Given the description of an element on the screen output the (x, y) to click on. 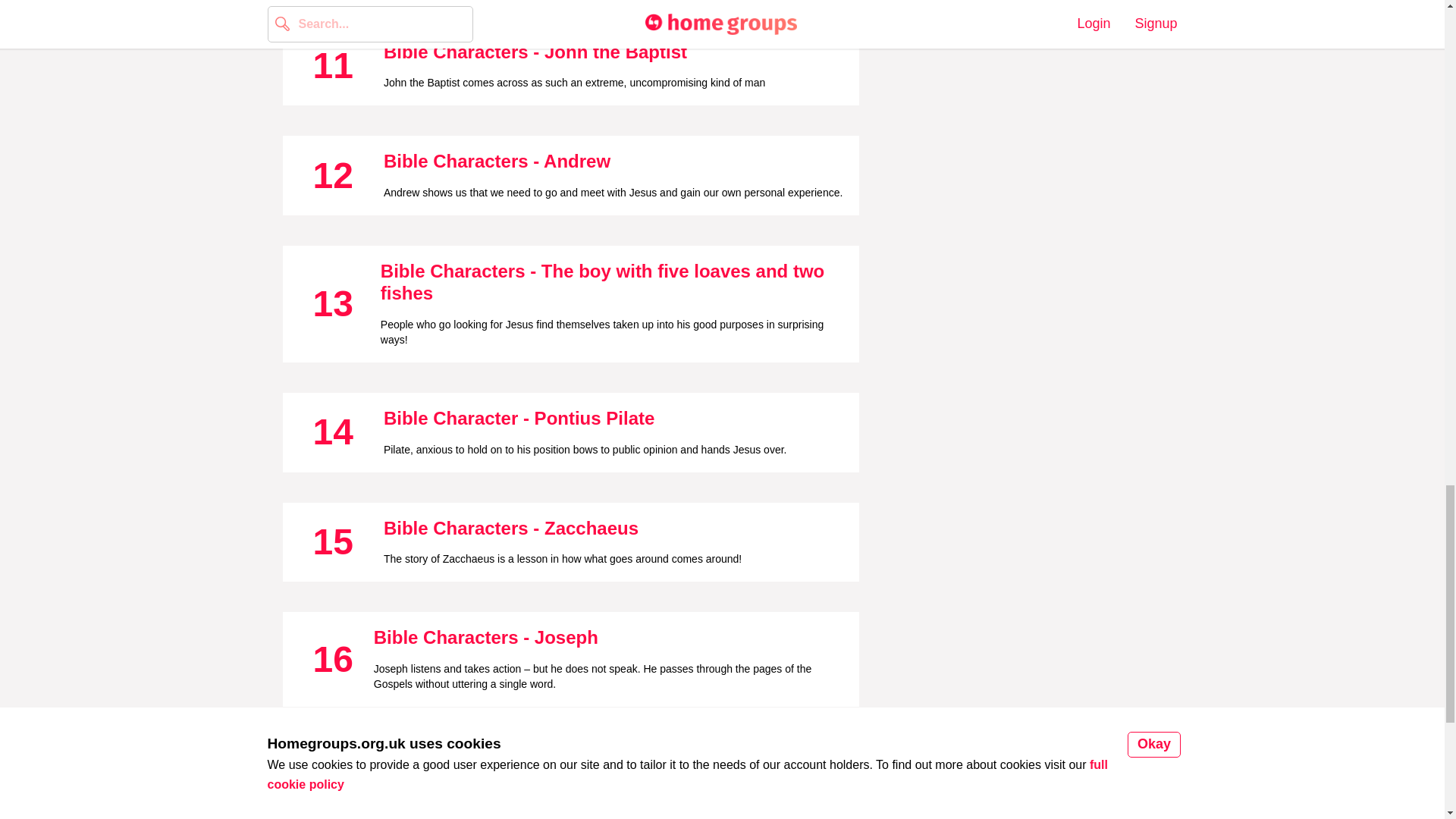
Bible Characters - The boy with five loaves and two fishes (602, 282)
Bible Characters - Joseph (486, 637)
Bible Characters - Andrew (497, 160)
Bible Character - Pontius Pilate (518, 417)
Bible Characters - John the Baptist (535, 51)
Bible Characters - Zacchaeus (511, 527)
